Given the description of an element on the screen output the (x, y) to click on. 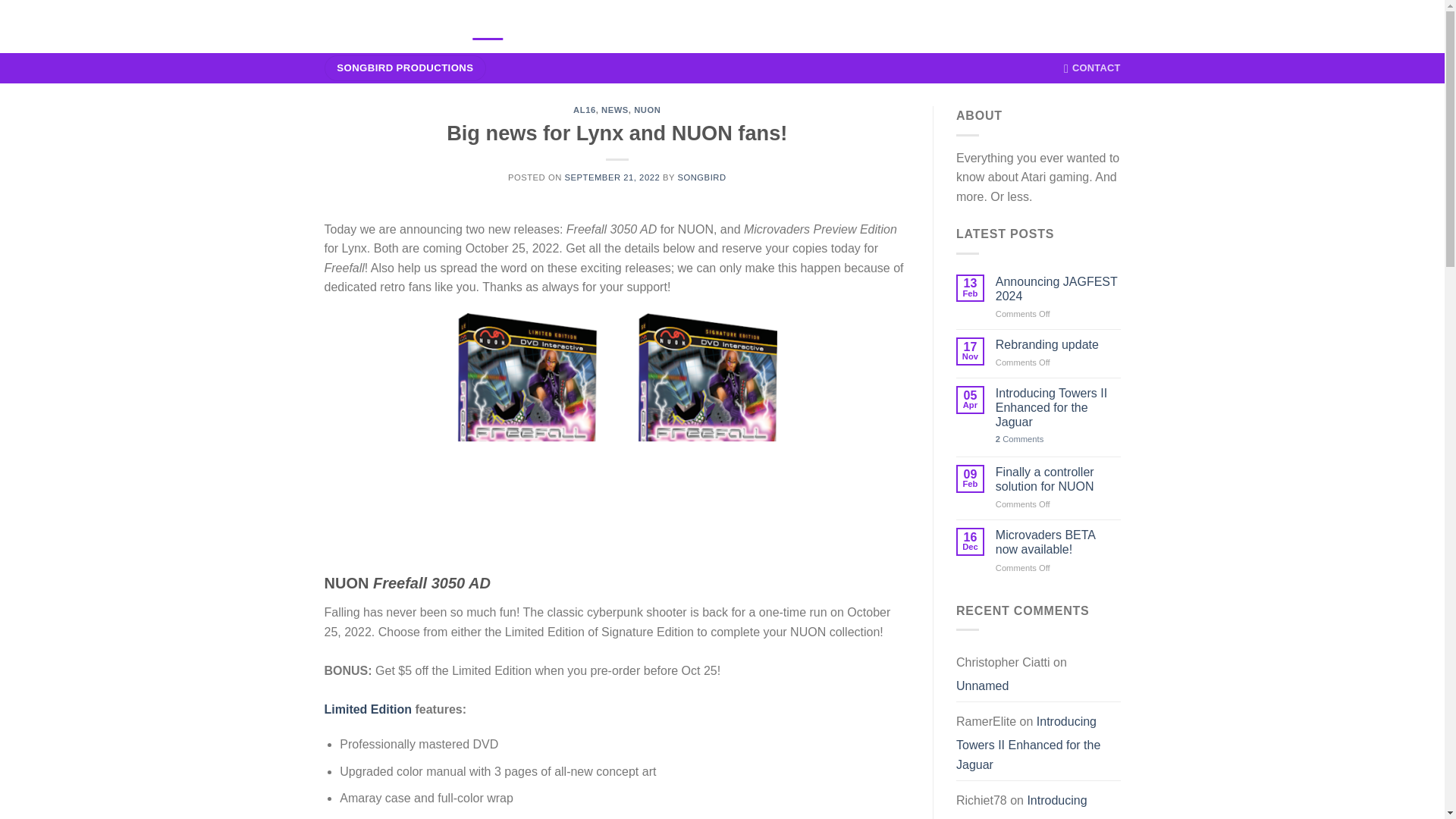
SONGBIRD (701, 176)
Limited Edition (368, 708)
MY ACCOUNT (593, 26)
Wishlist (1032, 26)
NUON (647, 109)
SEPTEMBER 21, 2022 (611, 176)
Cart (1069, 26)
SHOP (530, 25)
Songbird Productions - New Games. Old systems. (386, 26)
NEWS (487, 26)
